Given the description of an element on the screen output the (x, y) to click on. 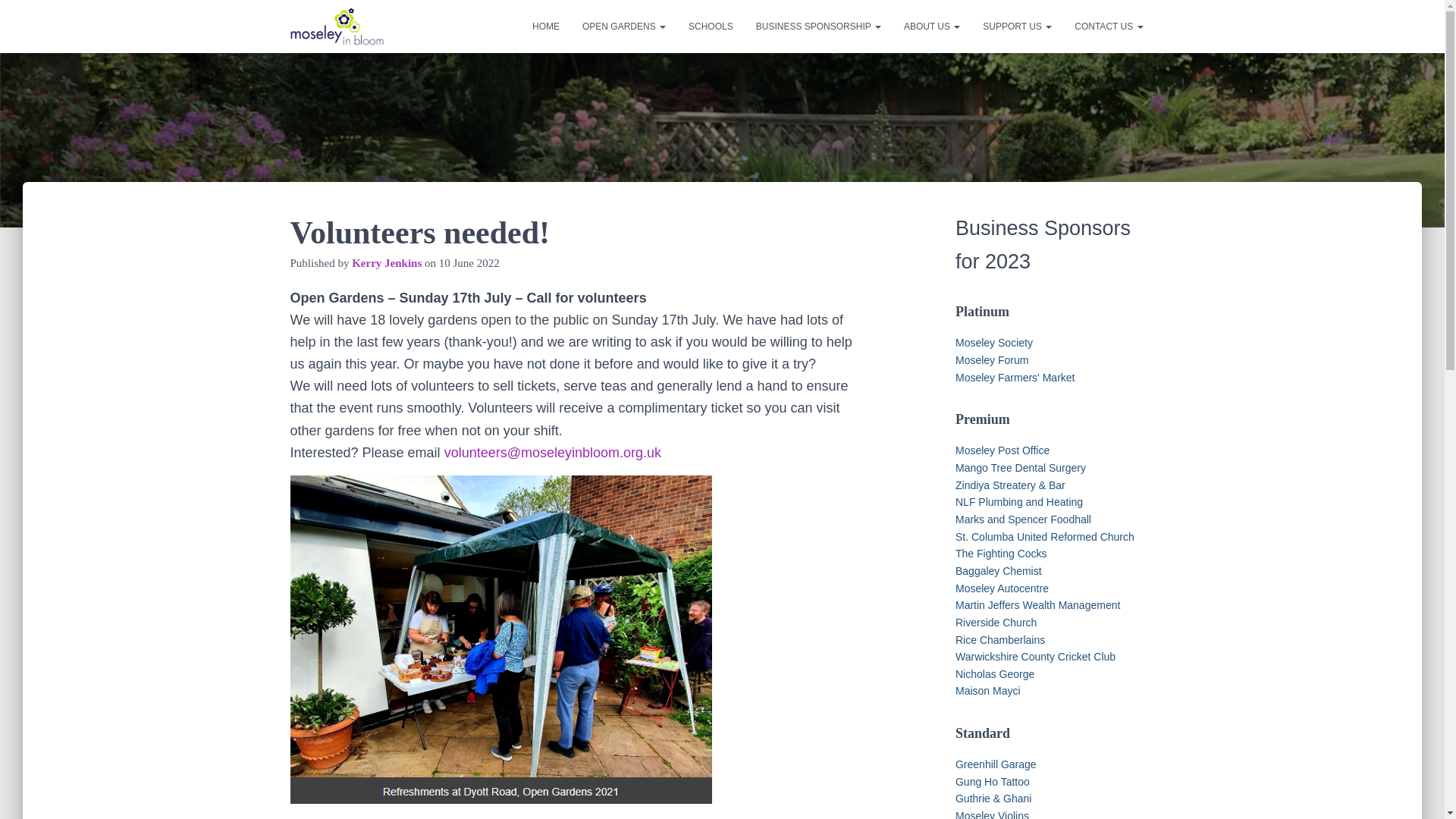
Kerry Jenkins (387, 263)
SCHOOLS (710, 26)
Home (545, 26)
Schools (710, 26)
Marks and Spencer Foodhall (1022, 519)
Mango Tree Dental Surgery (1020, 467)
CONTACT US (1108, 26)
Moseley Post Office (1002, 450)
Moseley Forum (991, 359)
ABOUT US (931, 26)
Open Gardens (623, 26)
Moseley in Bloom (336, 26)
About Us (931, 26)
OPEN GARDENS (623, 26)
NLF Plumbing and Heating (1019, 501)
